Given the description of an element on the screen output the (x, y) to click on. 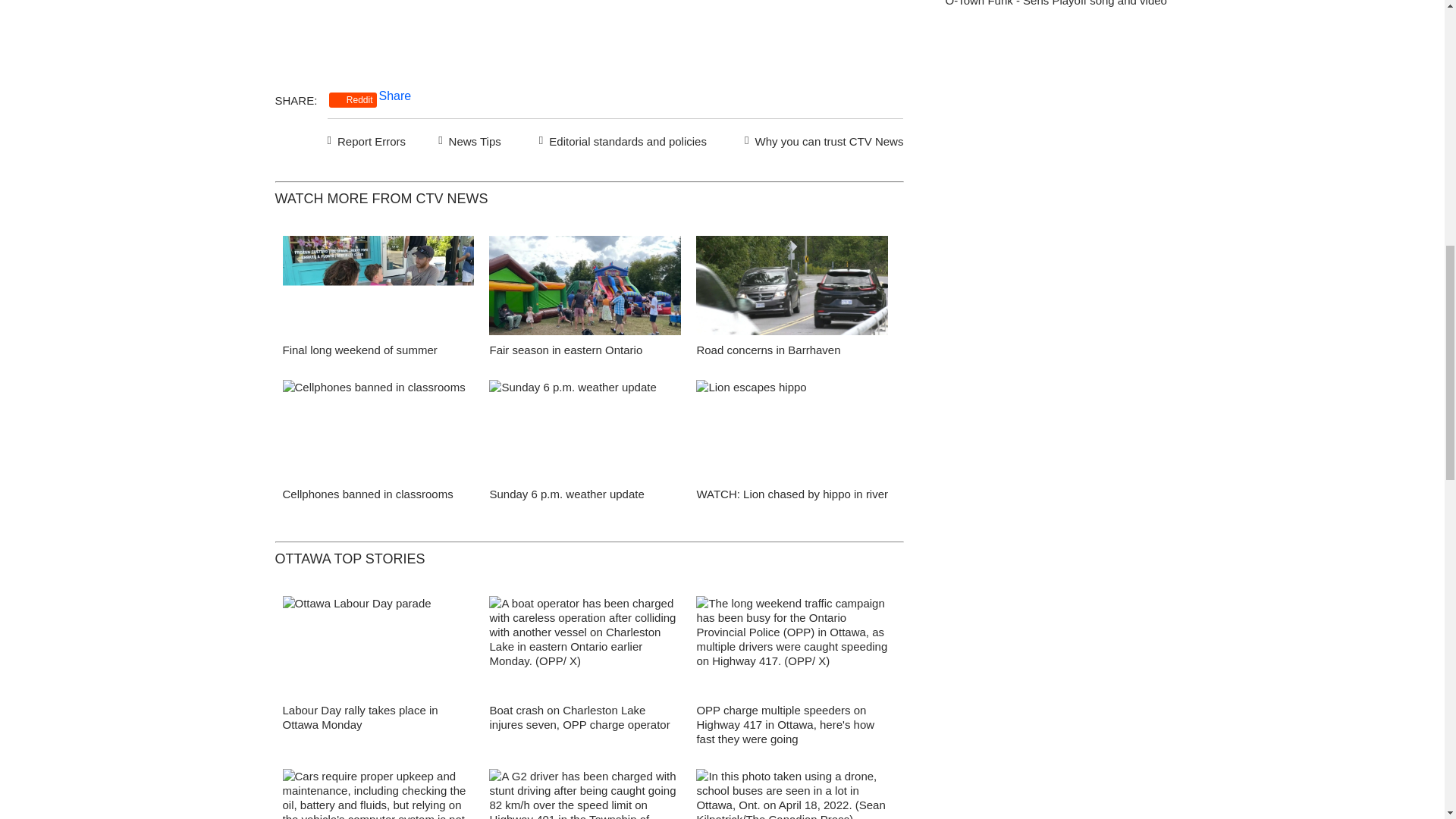
false (791, 284)
false (791, 429)
Sunday 6 p.m. weather update (566, 493)
Final long weekend of summer (359, 349)
false (585, 429)
Report Errors (366, 138)
WATCH: Lion chased by hippo in river (791, 493)
Editorial standards and policies (620, 138)
Fair season in eastern Ontario (565, 349)
false (378, 284)
